Given the description of an element on the screen output the (x, y) to click on. 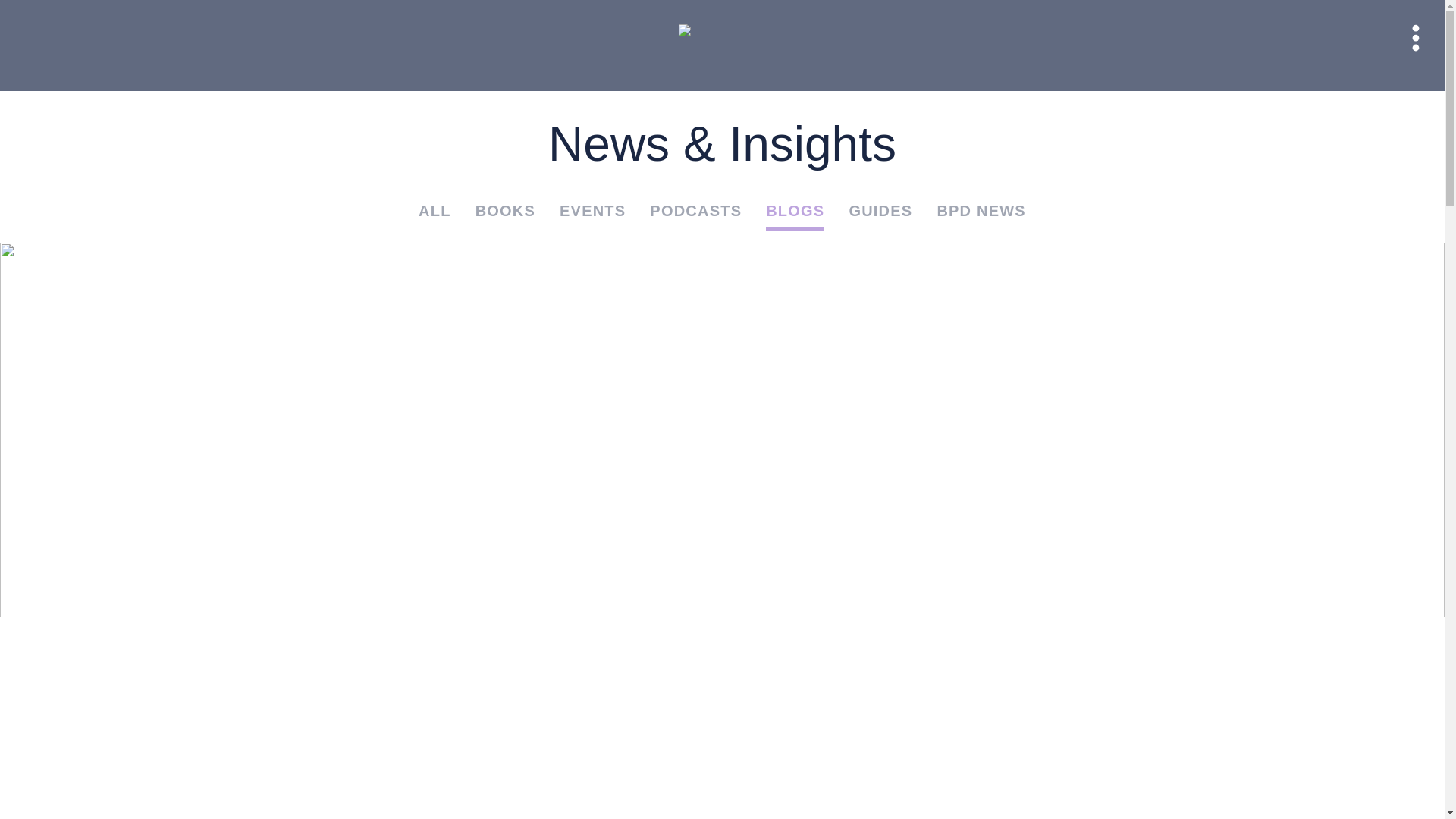
BPD NEWS (981, 210)
BOOKS (505, 210)
EVENTS (592, 210)
BPD NEWS (981, 214)
PODCASTS (695, 210)
EVENTS (592, 214)
BLOGS (794, 210)
BLOGS (794, 214)
BOOKS (505, 214)
GUIDES (880, 210)
ALL (435, 214)
PODCASTS (695, 214)
GUIDES (880, 214)
